Given the description of an element on the screen output the (x, y) to click on. 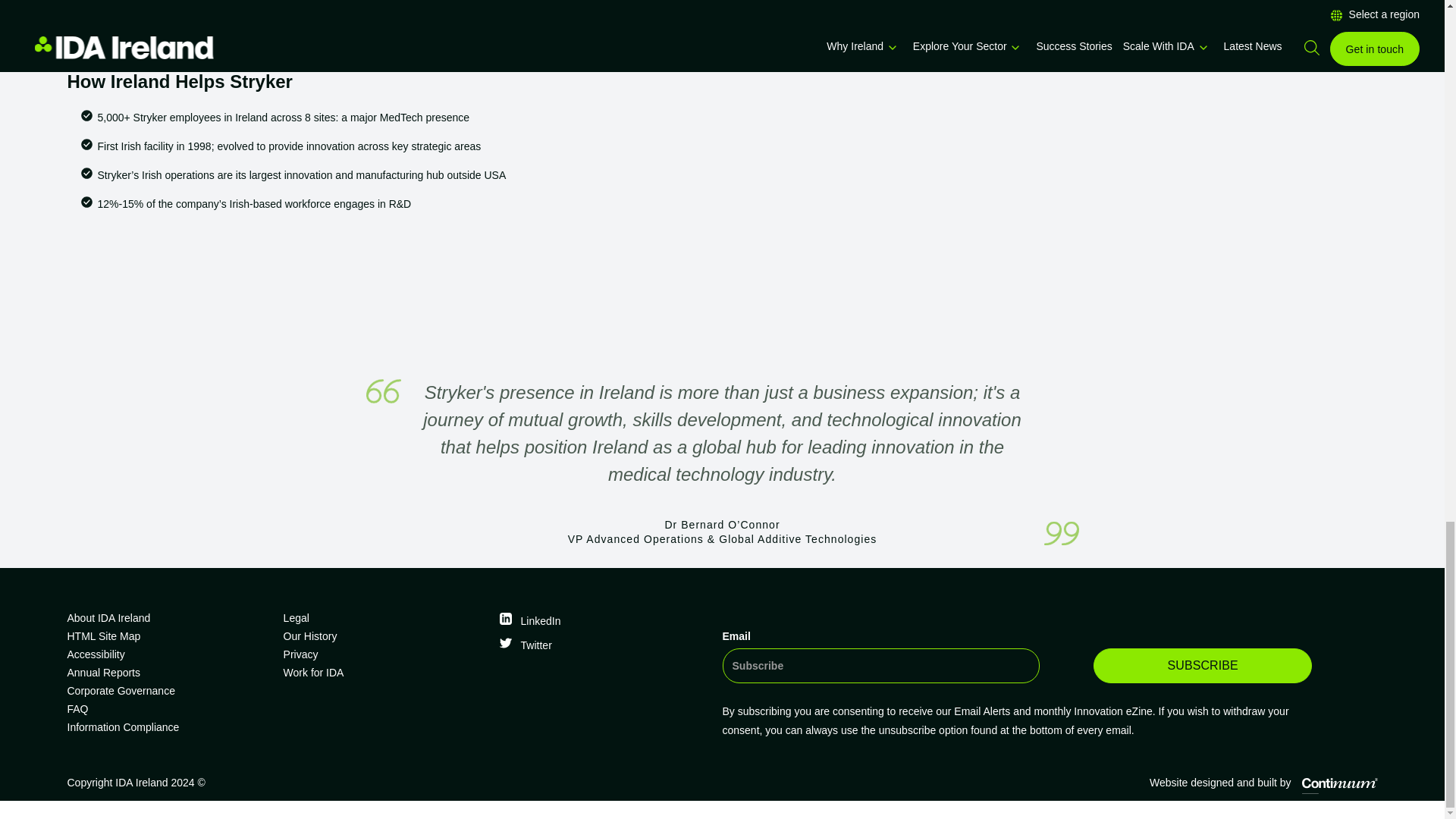
About IDA Ireland (167, 618)
HTML Site Map (167, 636)
Annual Reports (167, 672)
Legal (384, 618)
Accessibility (167, 654)
Privacy (384, 654)
Our History (384, 636)
Information Compliance (167, 727)
FAQ (167, 709)
Corporate Governance (167, 690)
Work for IDA (384, 672)
Subscribe (1202, 665)
